Given the description of an element on the screen output the (x, y) to click on. 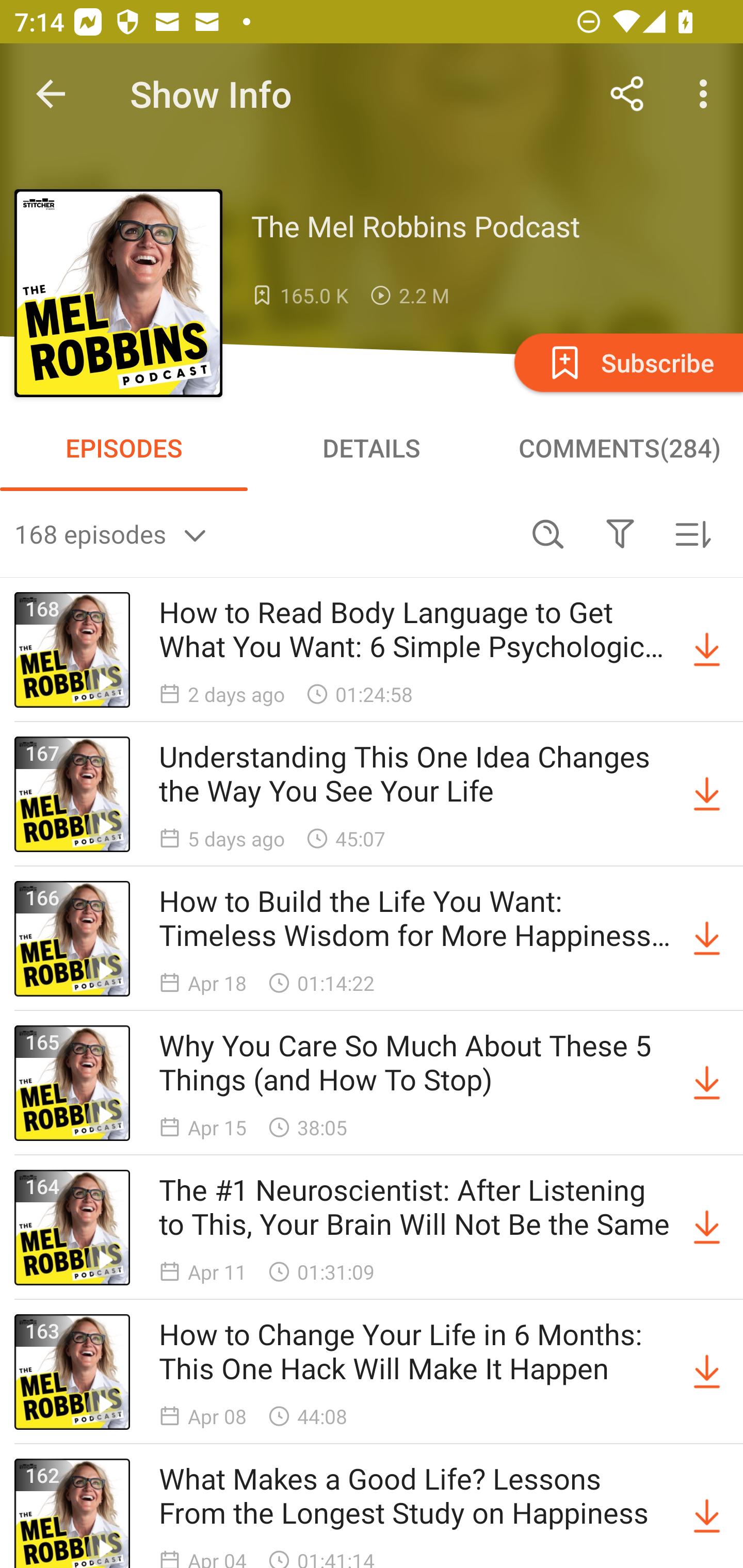
Navigate up (50, 93)
Share (626, 93)
More options (706, 93)
Subscribe (627, 361)
EPISODES (123, 447)
DETAILS (371, 447)
COMMENTS(284) (619, 447)
168 episodes  (262, 533)
 Search (547, 533)
 (619, 533)
 Sorted by newest first (692, 533)
Download (706, 649)
Download (706, 793)
Download (706, 939)
Download (706, 1083)
Download (706, 1227)
Download (706, 1371)
Download (706, 1513)
